Given the description of an element on the screen output the (x, y) to click on. 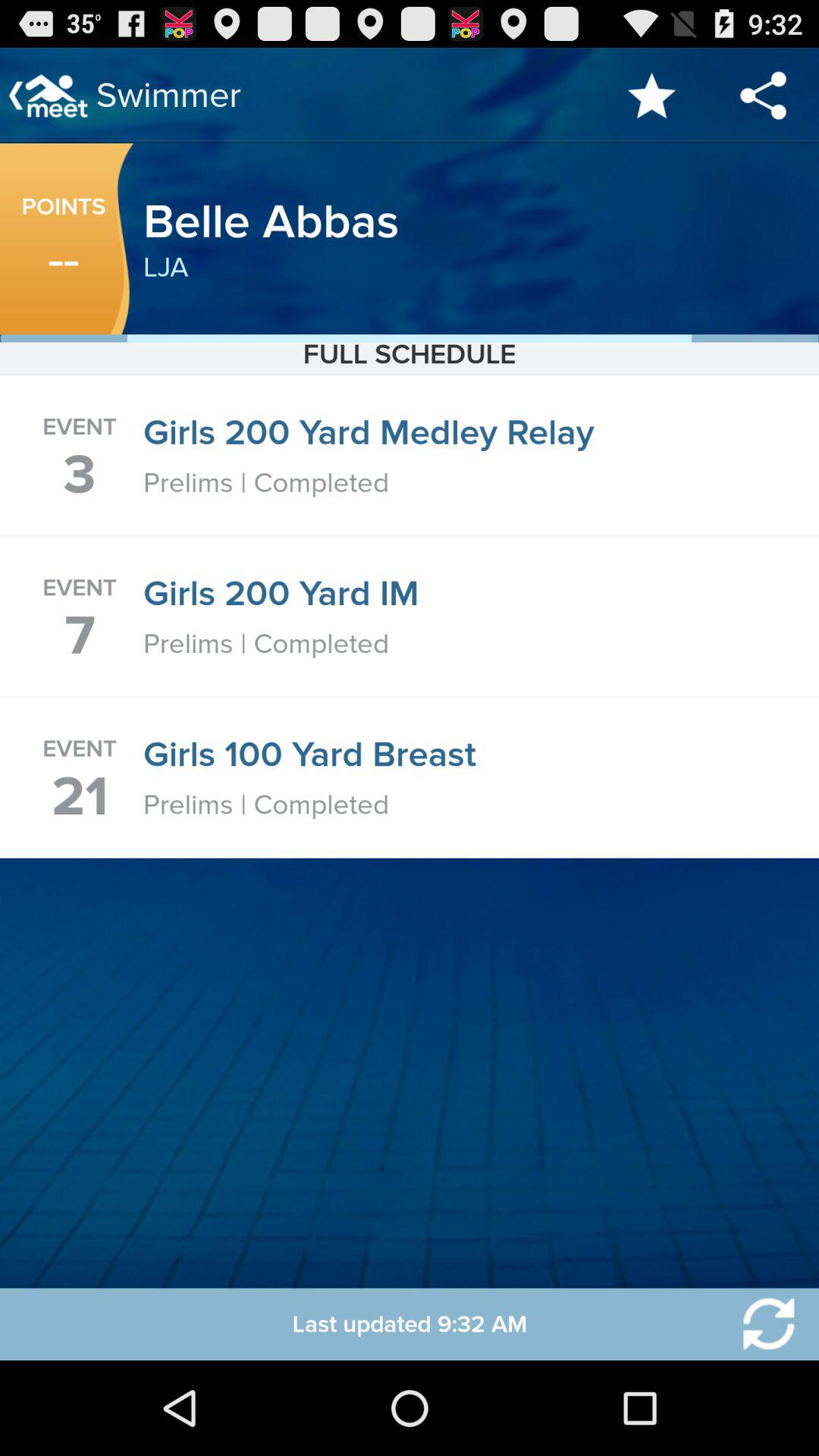
reload current page (759, 1324)
